Given the description of an element on the screen output the (x, y) to click on. 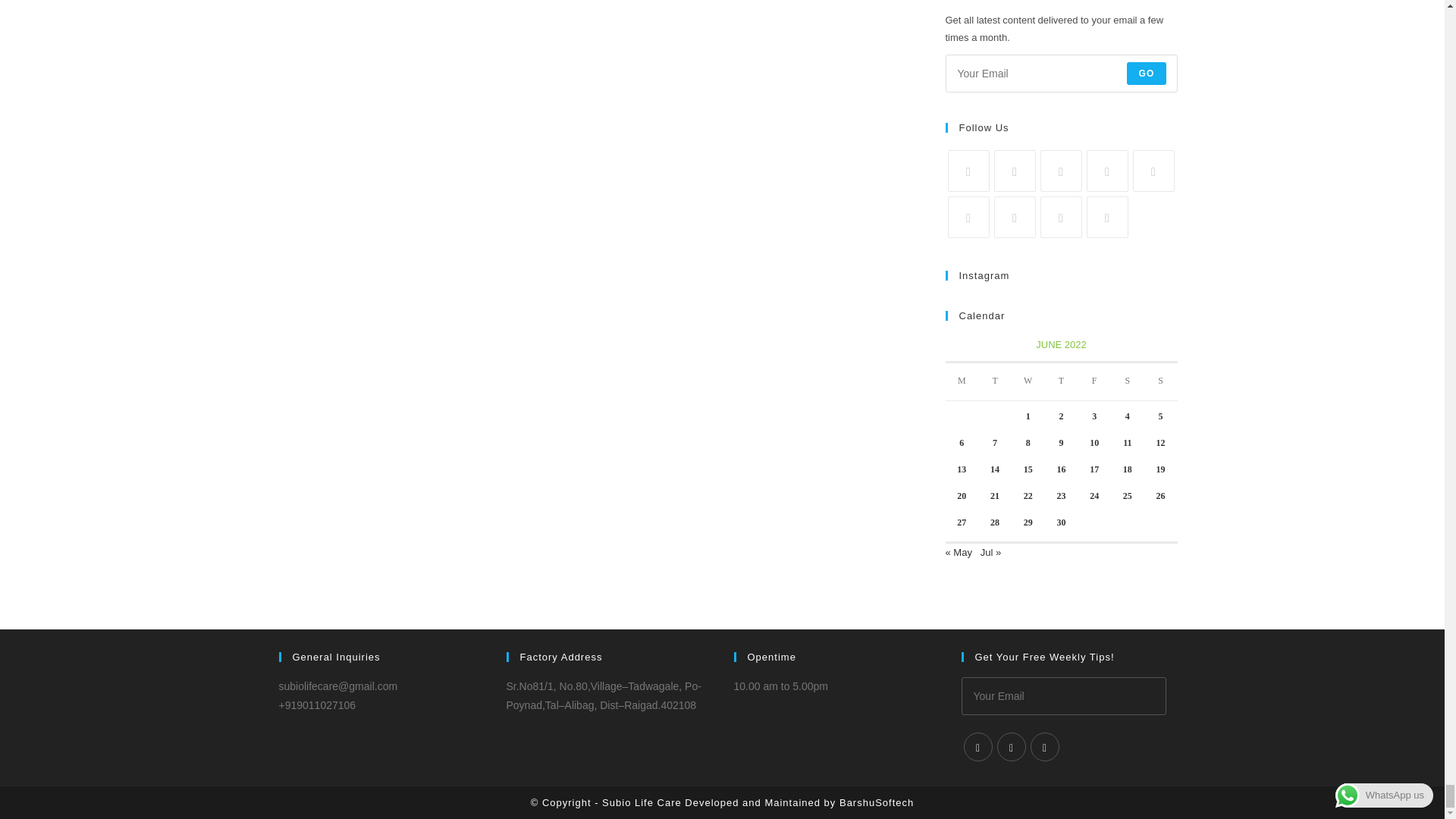
Sunday (1160, 381)
BarshuSoftech (877, 802)
Monday (961, 381)
Tuesday (994, 381)
Saturday (1127, 381)
Thursday (1061, 381)
Wednesday (1028, 381)
Friday (1093, 381)
